Given the description of an element on the screen output the (x, y) to click on. 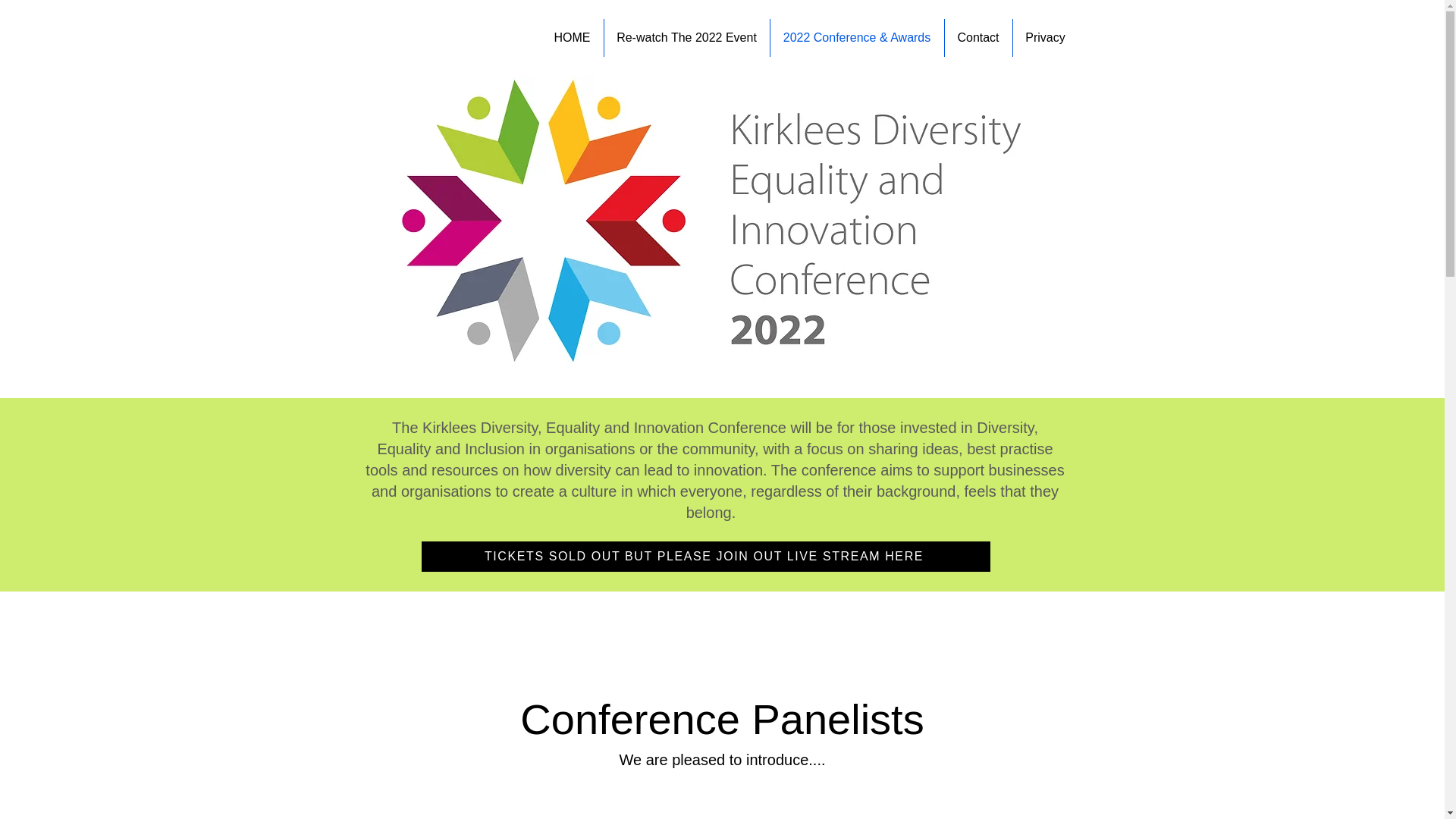
Re-watch The 2022 Event (686, 37)
Contact (977, 37)
TICKETS SOLD OUT BUT PLEASE JOIN OUT LIVE STREAM HERE (706, 556)
Privacy (1045, 37)
HOME (572, 37)
